Given the description of an element on the screen output the (x, y) to click on. 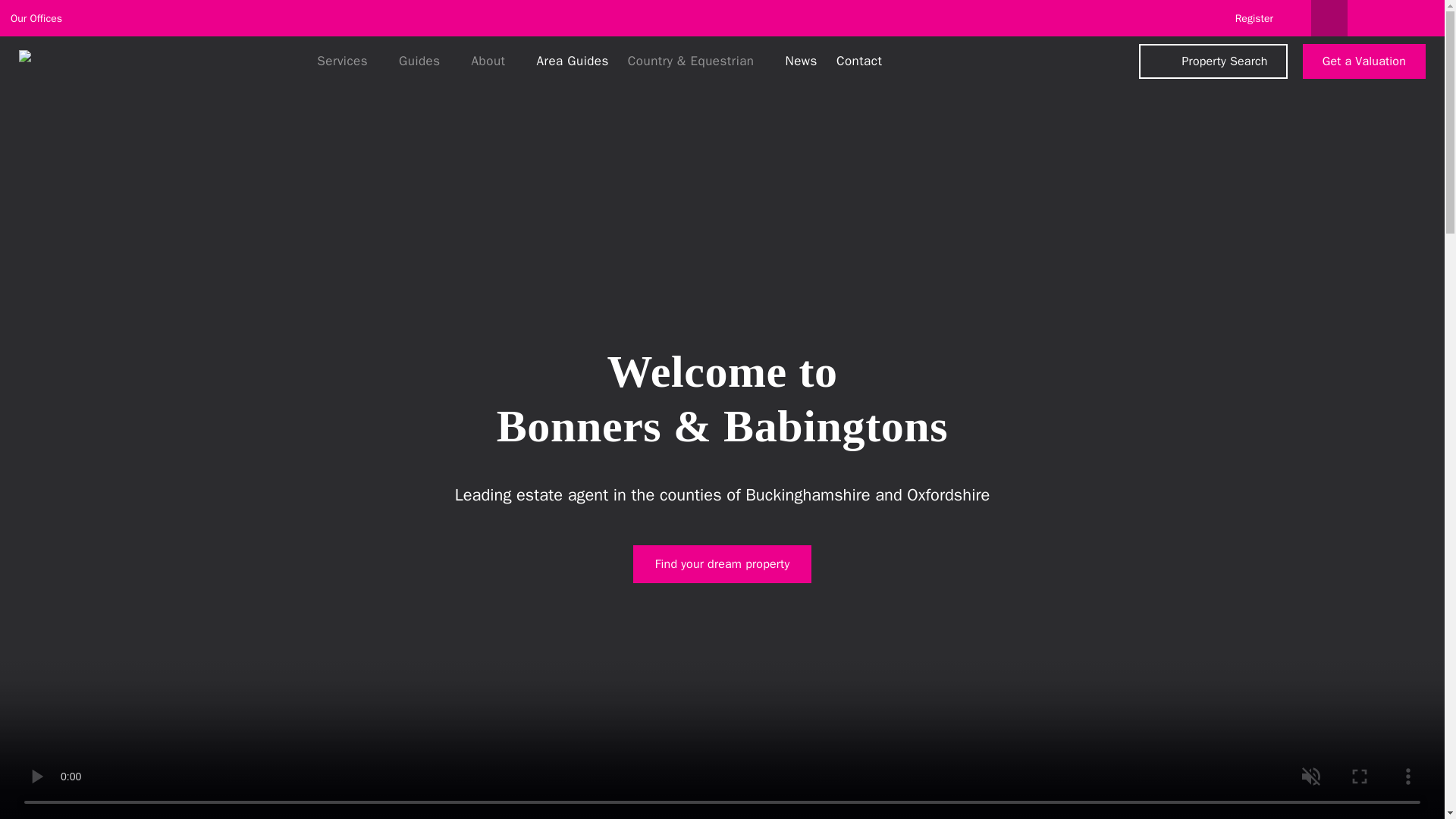
Our Offices (43, 18)
Property Search (1212, 61)
Services (347, 60)
About (493, 60)
Guides (425, 60)
Register (1253, 18)
Get a Valuation (1364, 61)
Area Guides (570, 60)
Contact (857, 60)
News (800, 60)
